Given the description of an element on the screen output the (x, y) to click on. 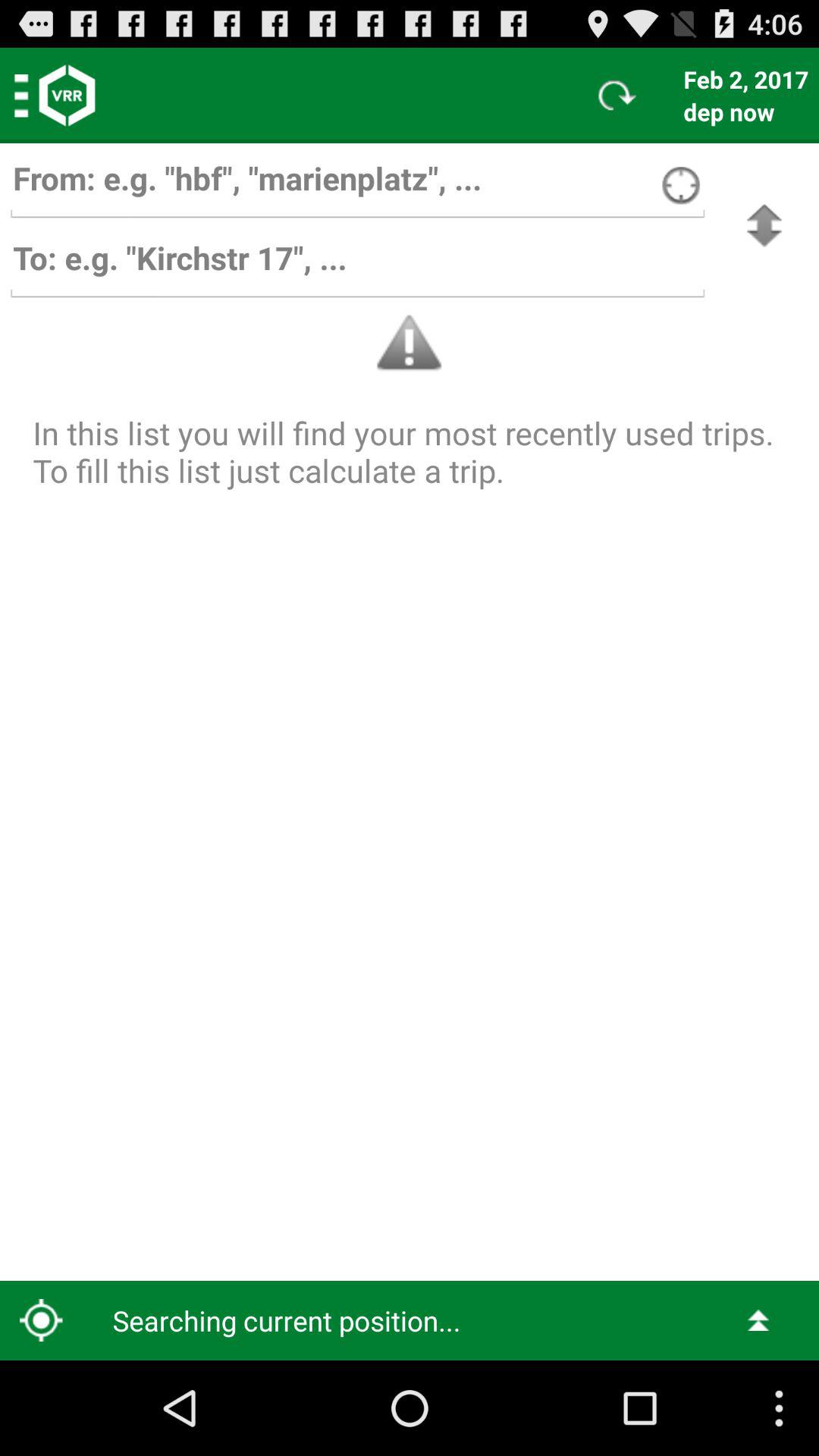
enter to address (357, 265)
